Given the description of an element on the screen output the (x, y) to click on. 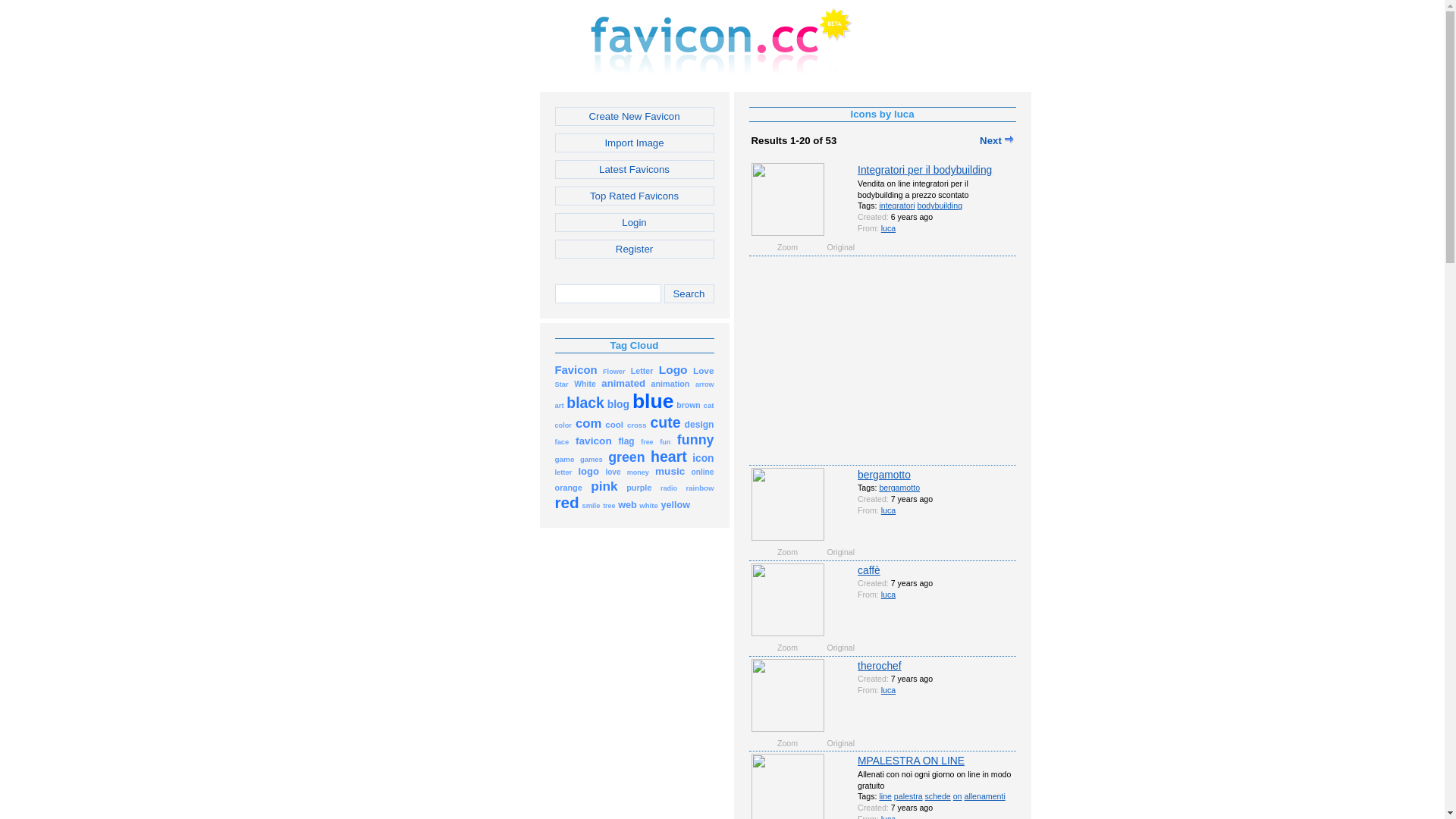
heart Element type: text (668, 458)
line Element type: text (884, 795)
smile Element type: text (590, 504)
Favicon Element type: text (576, 370)
blue Element type: text (653, 404)
orange Element type: text (568, 486)
animation Element type: text (670, 383)
Latest Favicons Element type: text (634, 169)
music Element type: text (669, 470)
cross Element type: text (636, 423)
cool Element type: text (614, 423)
favicon Element type: text (593, 440)
red Element type: text (567, 504)
cute Element type: text (664, 423)
white Element type: text (648, 504)
animated Element type: text (623, 383)
design Element type: text (699, 423)
icon Element type: text (702, 458)
bodybuilding Element type: text (940, 205)
luca Element type: text (888, 227)
face Element type: text (562, 440)
palestra Element type: text (908, 795)
com Element type: text (588, 423)
MPALESTRA ON LINE Element type: text (910, 760)
fun Element type: text (664, 440)
cat Element type: text (708, 404)
Import Image Element type: text (634, 142)
luca Element type: text (888, 509)
purple Element type: text (638, 486)
integratori Element type: text (896, 205)
on Element type: text (957, 795)
Next Element type: text (996, 140)
love Element type: text (612, 470)
brown Element type: text (687, 404)
therochef Element type: text (879, 665)
Letter Element type: text (641, 370)
Search Element type: text (689, 293)
bergamotto Element type: text (883, 474)
tree Element type: text (608, 504)
schede Element type: text (937, 795)
radio Element type: text (668, 486)
Integratori per il bodybuilding Element type: text (924, 169)
game Element type: text (564, 458)
Login Element type: text (634, 222)
blog Element type: text (618, 404)
Register Element type: text (634, 248)
yellow Element type: text (675, 504)
online Element type: text (701, 470)
web Element type: text (627, 504)
allenamenti Element type: text (983, 795)
funny Element type: text (695, 440)
free Element type: text (646, 440)
letter Element type: text (563, 470)
Love Element type: text (703, 370)
bergamotto Element type: text (898, 487)
games Element type: text (591, 458)
Flower Element type: text (613, 370)
Star Element type: text (561, 383)
color Element type: text (563, 423)
green Element type: text (626, 458)
luca Element type: text (888, 689)
pink Element type: text (603, 486)
logo Element type: text (588, 470)
arrow Element type: text (704, 383)
flag Element type: text (625, 440)
White Element type: text (585, 383)
art Element type: text (559, 404)
black Element type: text (585, 404)
Create New Favicon Element type: text (634, 115)
money Element type: text (638, 470)
luca Element type: text (888, 594)
rainbow Element type: text (699, 486)
Top Rated Favicons Element type: text (634, 195)
Logo Element type: text (672, 370)
